Given the description of an element on the screen output the (x, y) to click on. 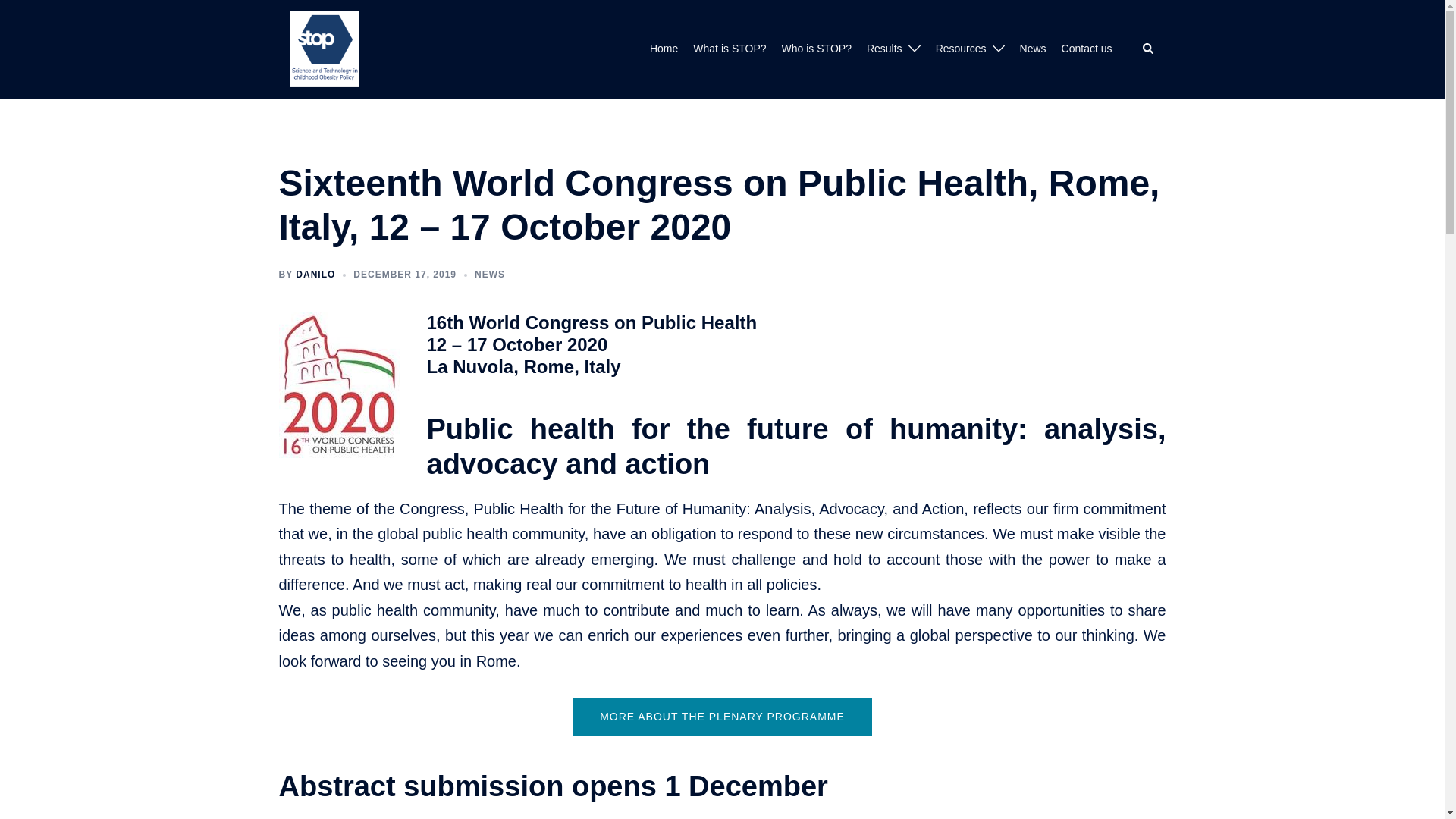
Search (1147, 49)
Resources (961, 49)
STOP (324, 47)
Contact us (1086, 49)
Who is STOP? (816, 49)
Home (663, 49)
Results (884, 49)
News (1033, 49)
What is STOP? (729, 49)
